Given the description of an element on the screen output the (x, y) to click on. 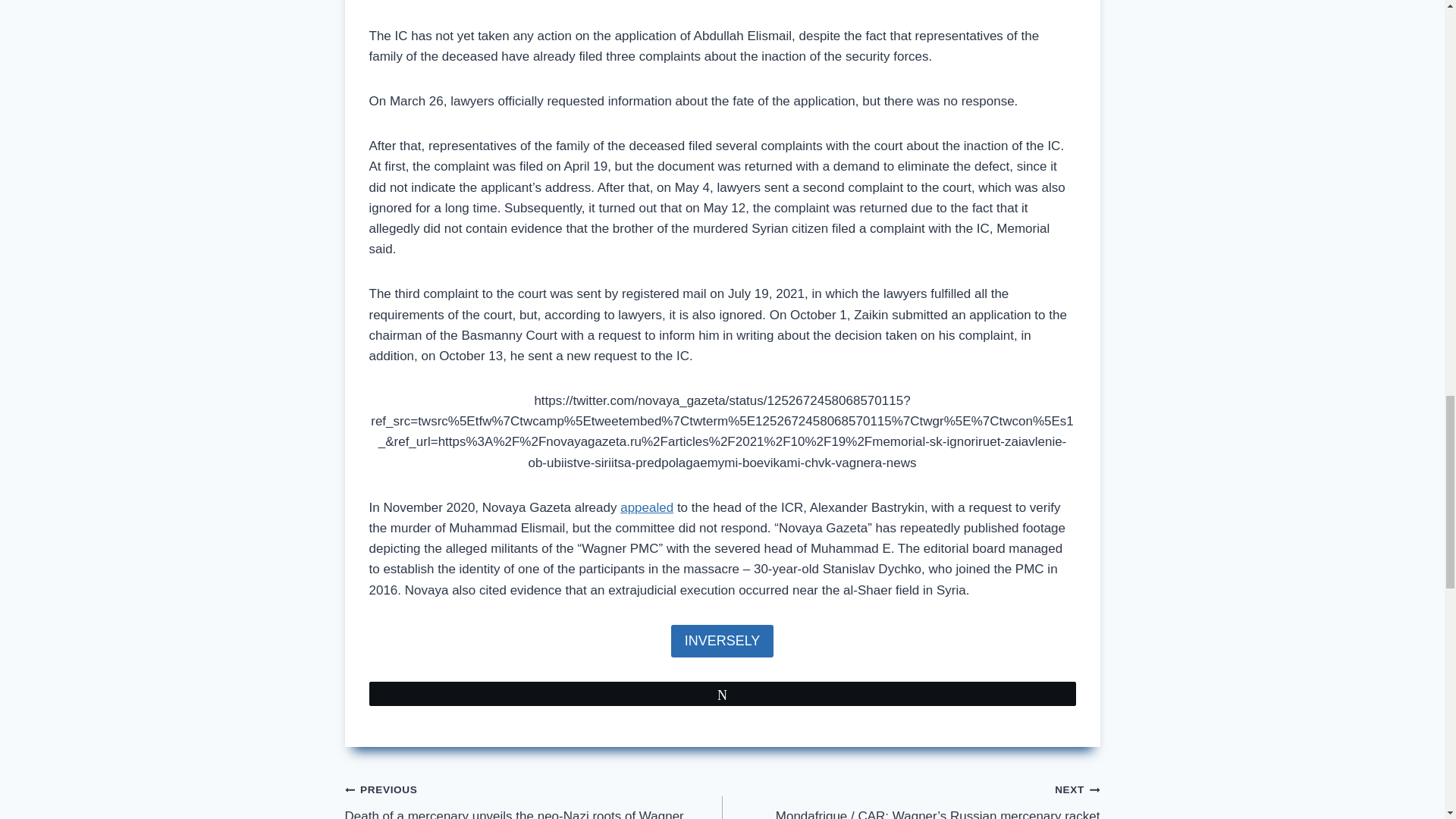
appealed (646, 507)
INVERSELY (722, 640)
